Given the description of an element on the screen output the (x, y) to click on. 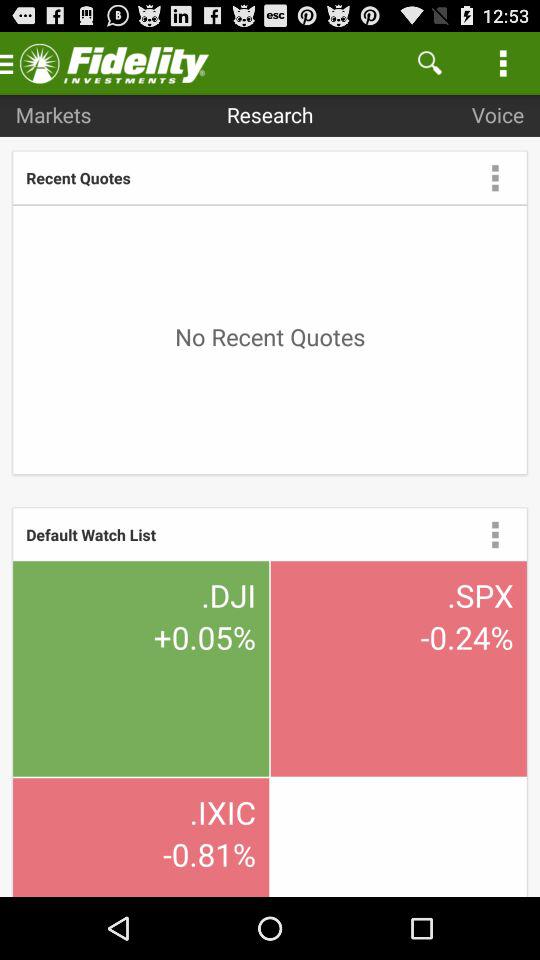
menu (495, 177)
